Given the description of an element on the screen output the (x, y) to click on. 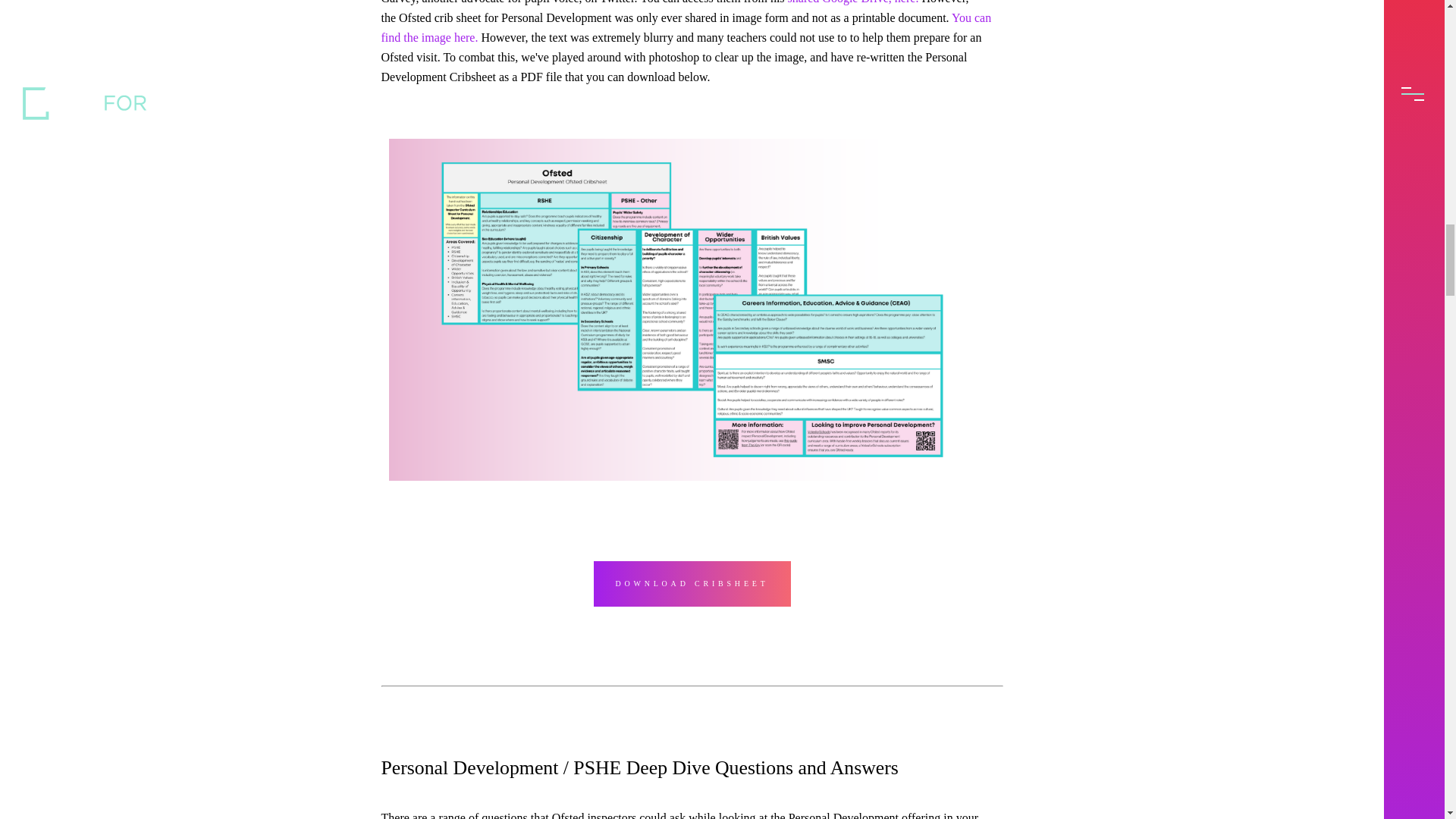
DOWNLOAD CRIBSHEET (691, 583)
Ofsted Personal Development Crib Sheet (685, 27)
You can find the image here. (685, 27)
shared Google Drive, here. (852, 2)
